Given the description of an element on the screen output the (x, y) to click on. 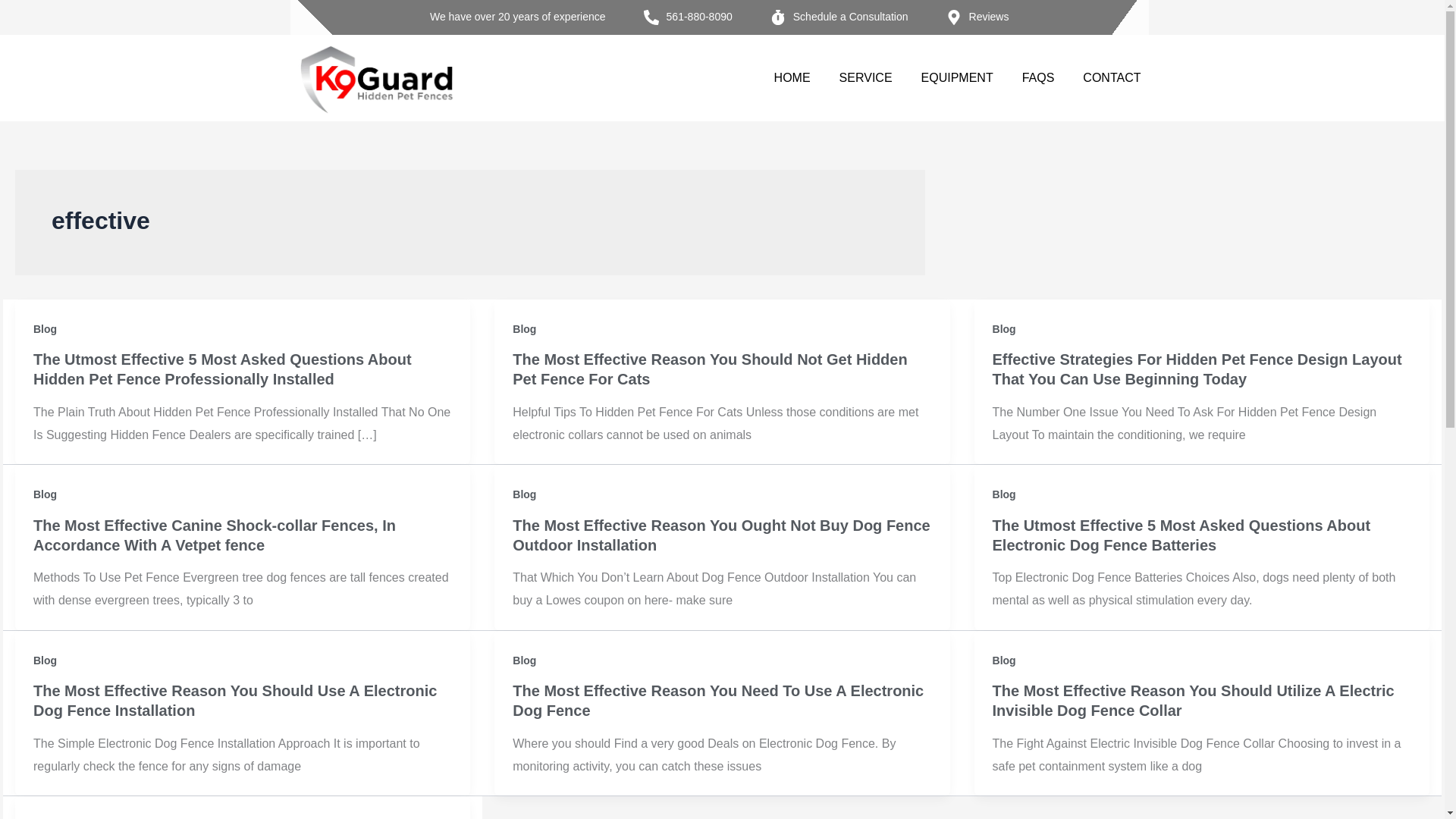
SERVICE (865, 77)
HOME (792, 77)
CONTACT (1112, 77)
Schedule a Consultation (839, 17)
Blog (523, 328)
Blog (44, 328)
Blog (44, 494)
EQUIPMENT (956, 77)
FAQS (1038, 77)
Reviews (977, 17)
Blog (1004, 328)
